Given the description of an element on the screen output the (x, y) to click on. 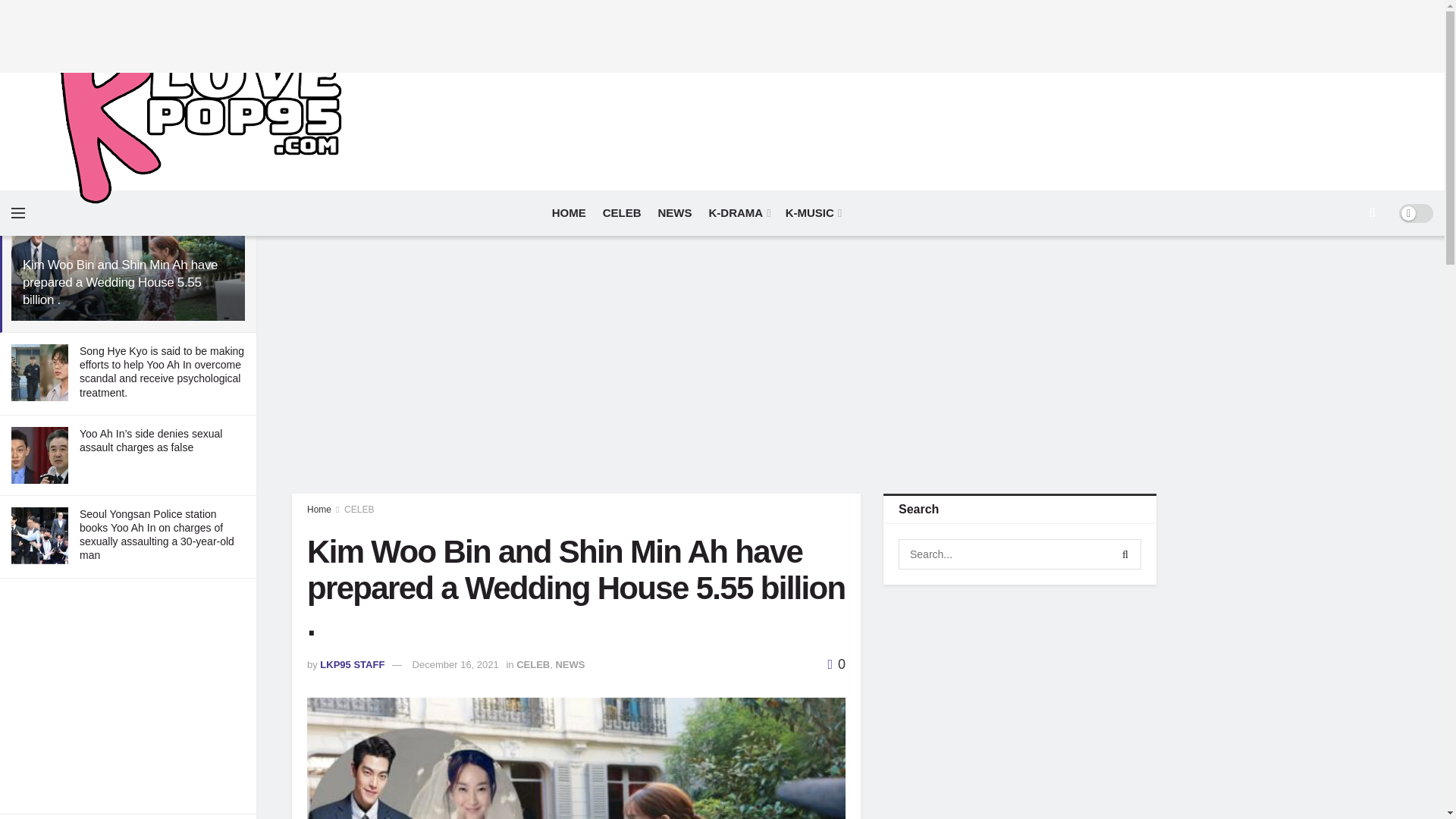
Filter (227, 177)
K-DRAMA (738, 212)
Yoo Ah In's side denies sexual assault charges as false 3 (39, 455)
Advertisement (128, 695)
K-MUSIC (813, 212)
